Given the description of an element on the screen output the (x, y) to click on. 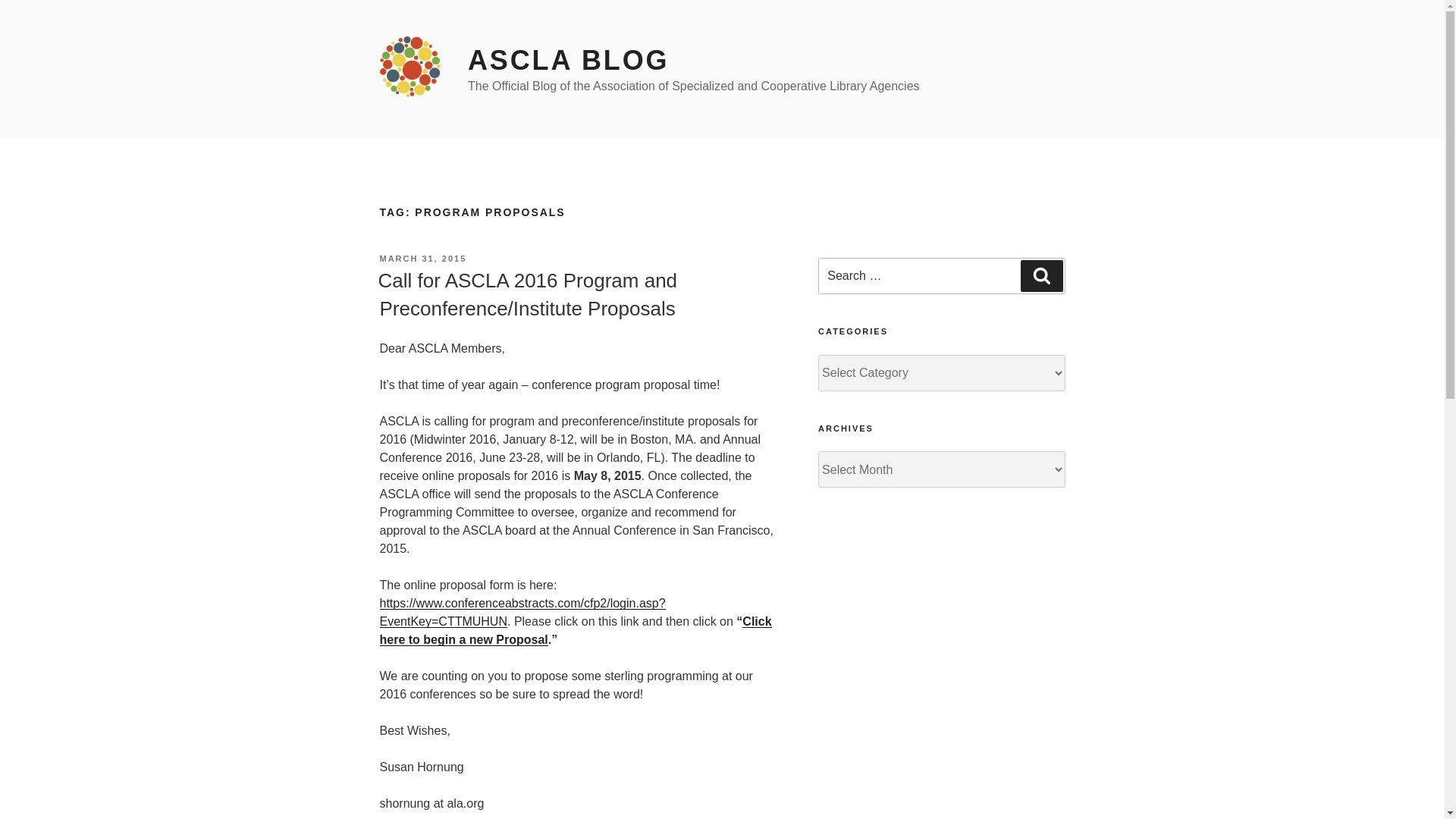
MARCH 31, 2015 (421, 257)
Search (1041, 275)
Click here to begin a new Proposal (574, 630)
ASCLA BLOG (567, 60)
